Given the description of an element on the screen output the (x, y) to click on. 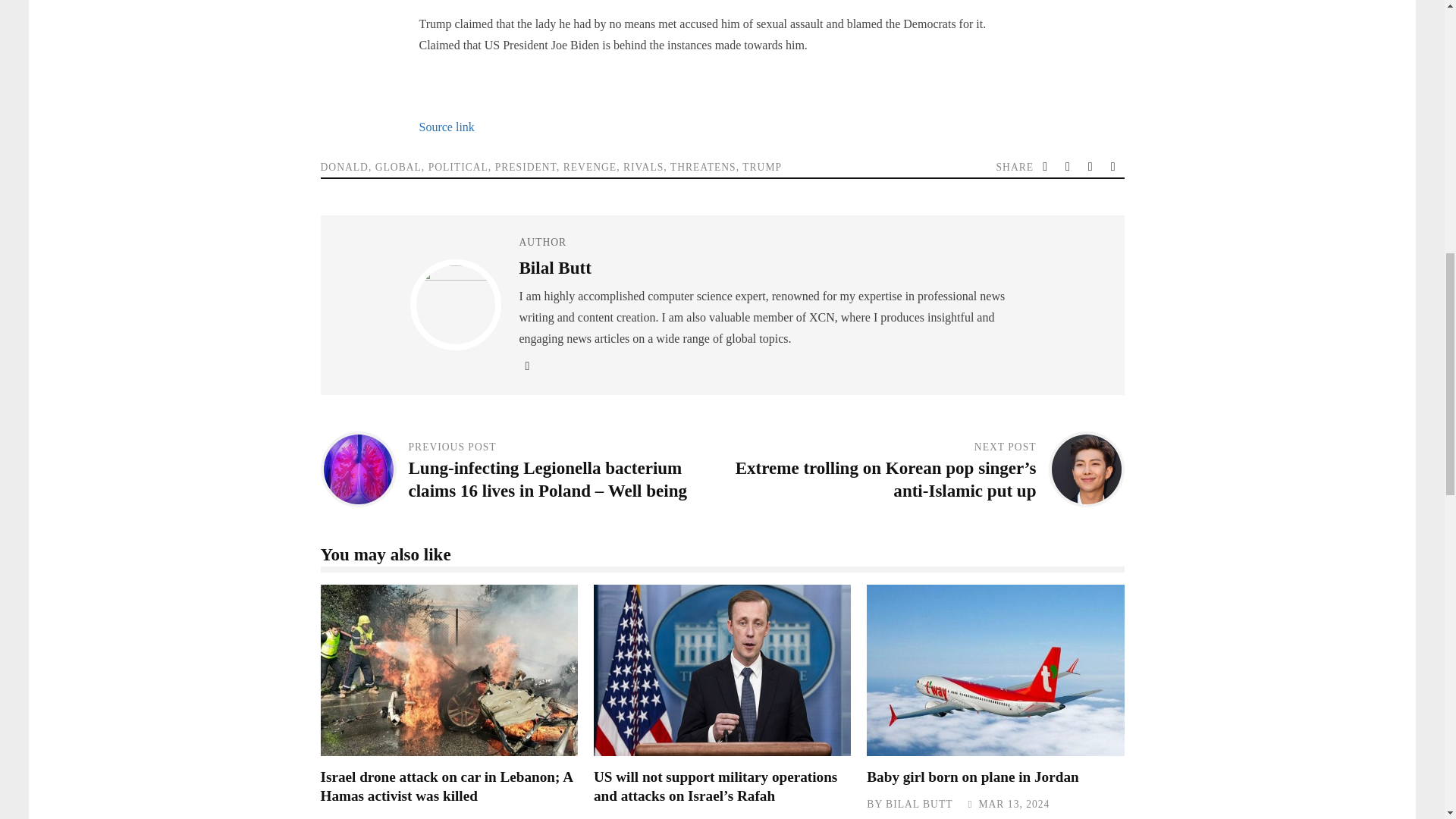
Tweet This! (1046, 166)
Share on LinkedIn (1091, 166)
Posts by Bilal Butt (554, 267)
Posts by Bilal Butt (372, 818)
Pin this! (1114, 166)
DONALD (344, 166)
Share on Facebook (1068, 166)
Source link (446, 126)
Posts by Bilal Butt (918, 803)
Posts by Bilal Butt (645, 818)
